Given the description of an element on the screen output the (x, y) to click on. 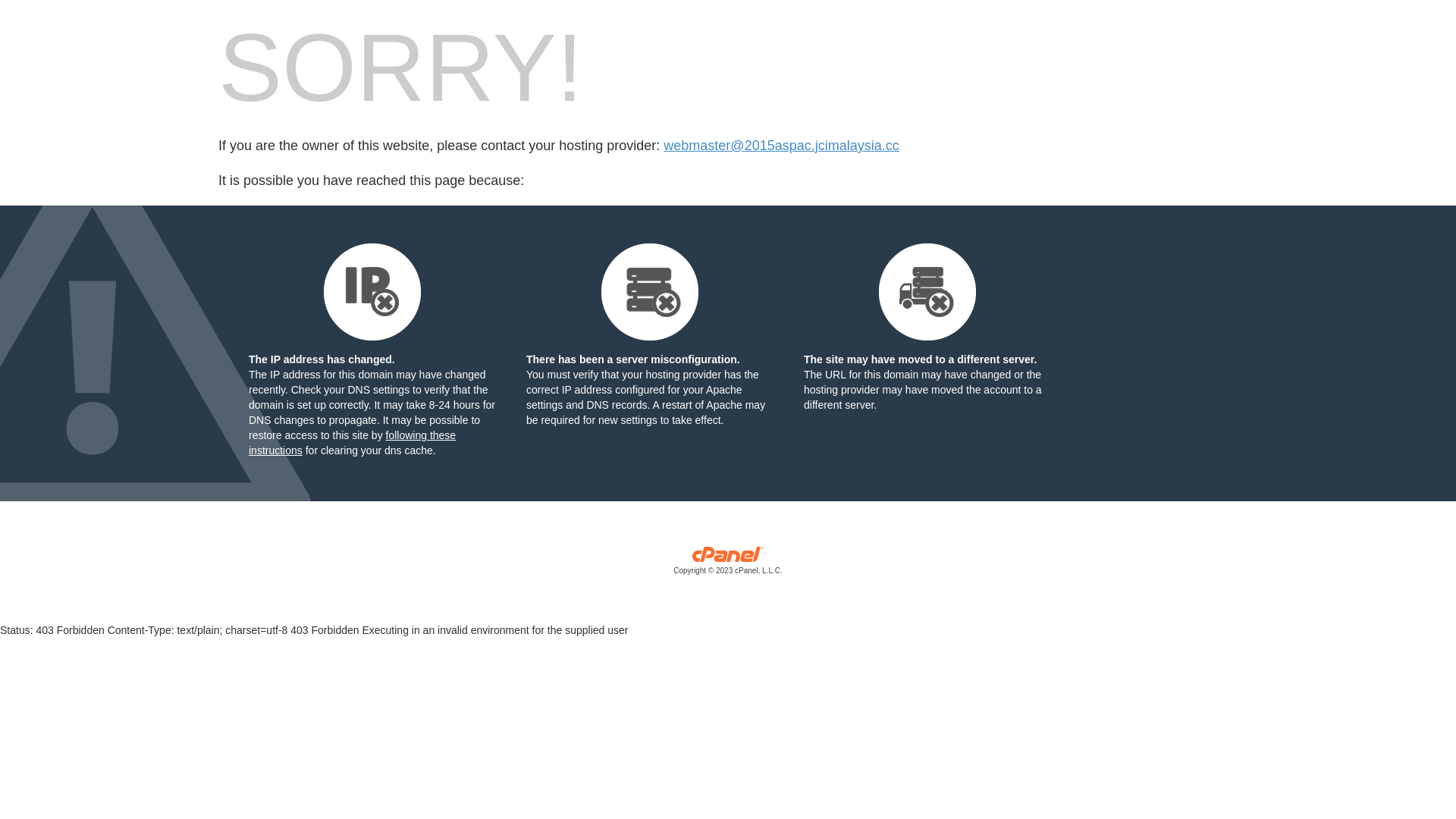
webmaster@2015aspac.jcimalaysia.cc Element type: text (780, 145)
following these instructions Element type: text (351, 442)
